Given the description of an element on the screen output the (x, y) to click on. 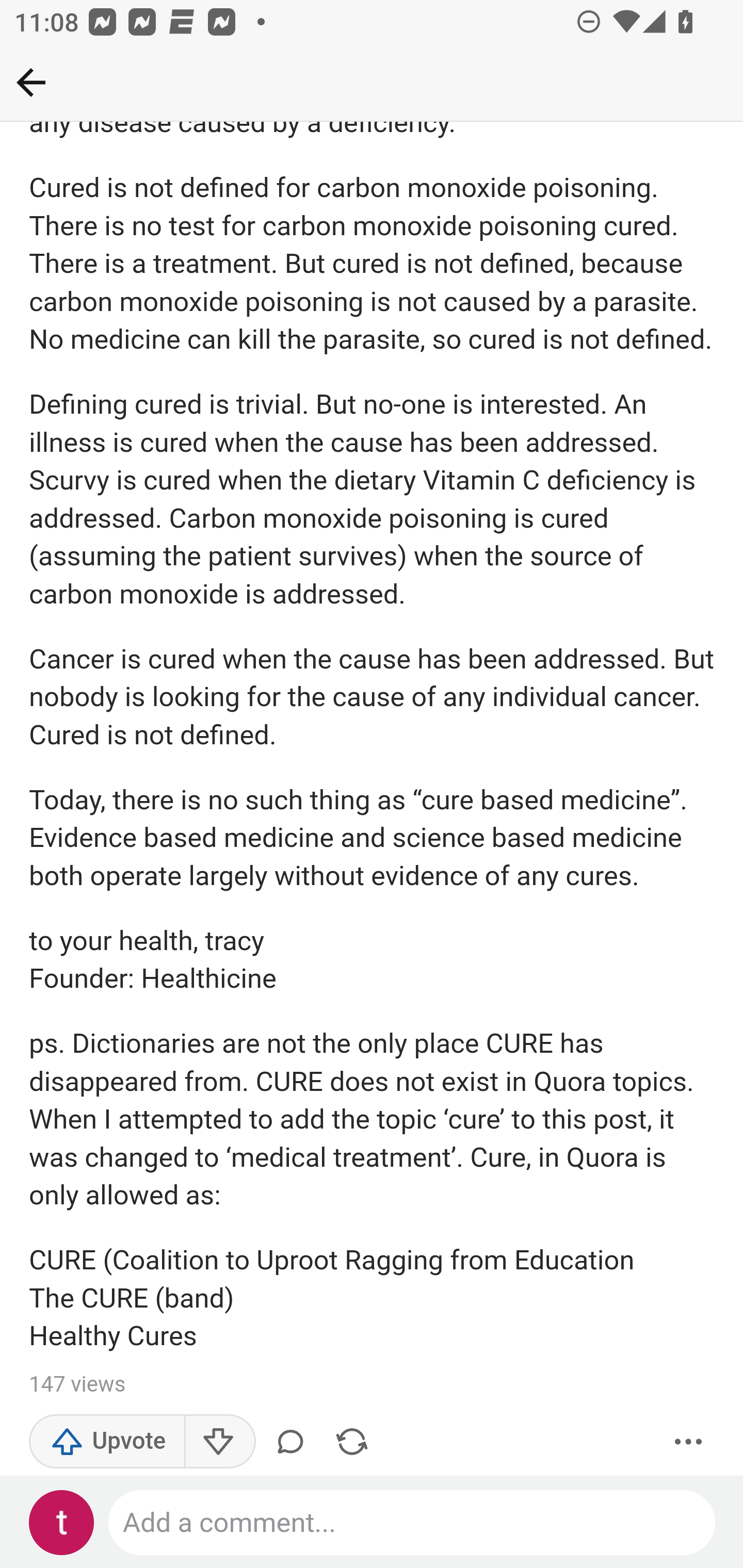
Back (30, 82)
Upvote (106, 1442)
Downvote (219, 1442)
Comment (293, 1442)
Share (351, 1442)
More (688, 1442)
Profile photo for Test Appium (61, 1523)
Add a comment... (412, 1523)
